Given the description of an element on the screen output the (x, y) to click on. 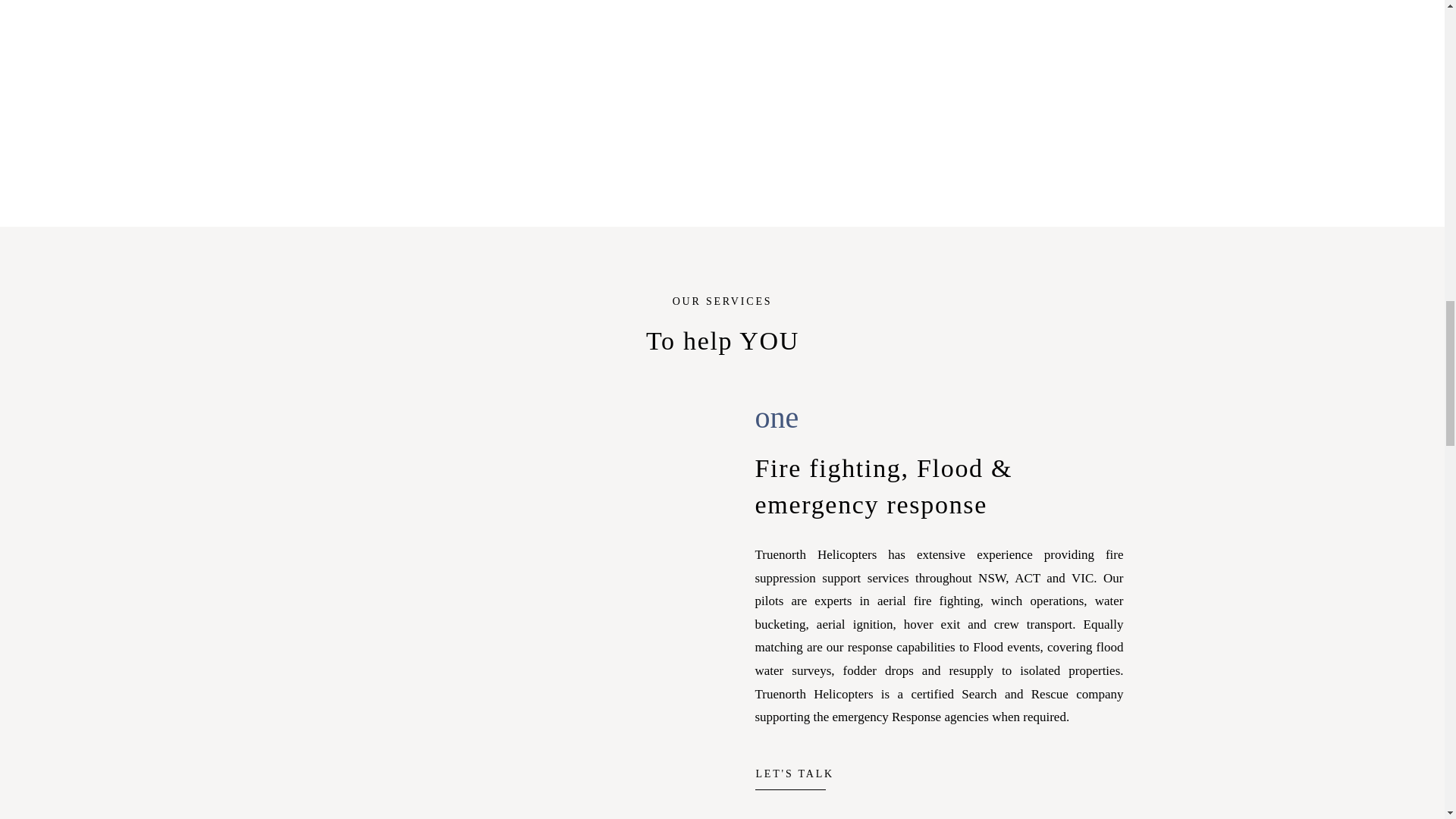
LET'S TALK (812, 770)
